Given the description of an element on the screen output the (x, y) to click on. 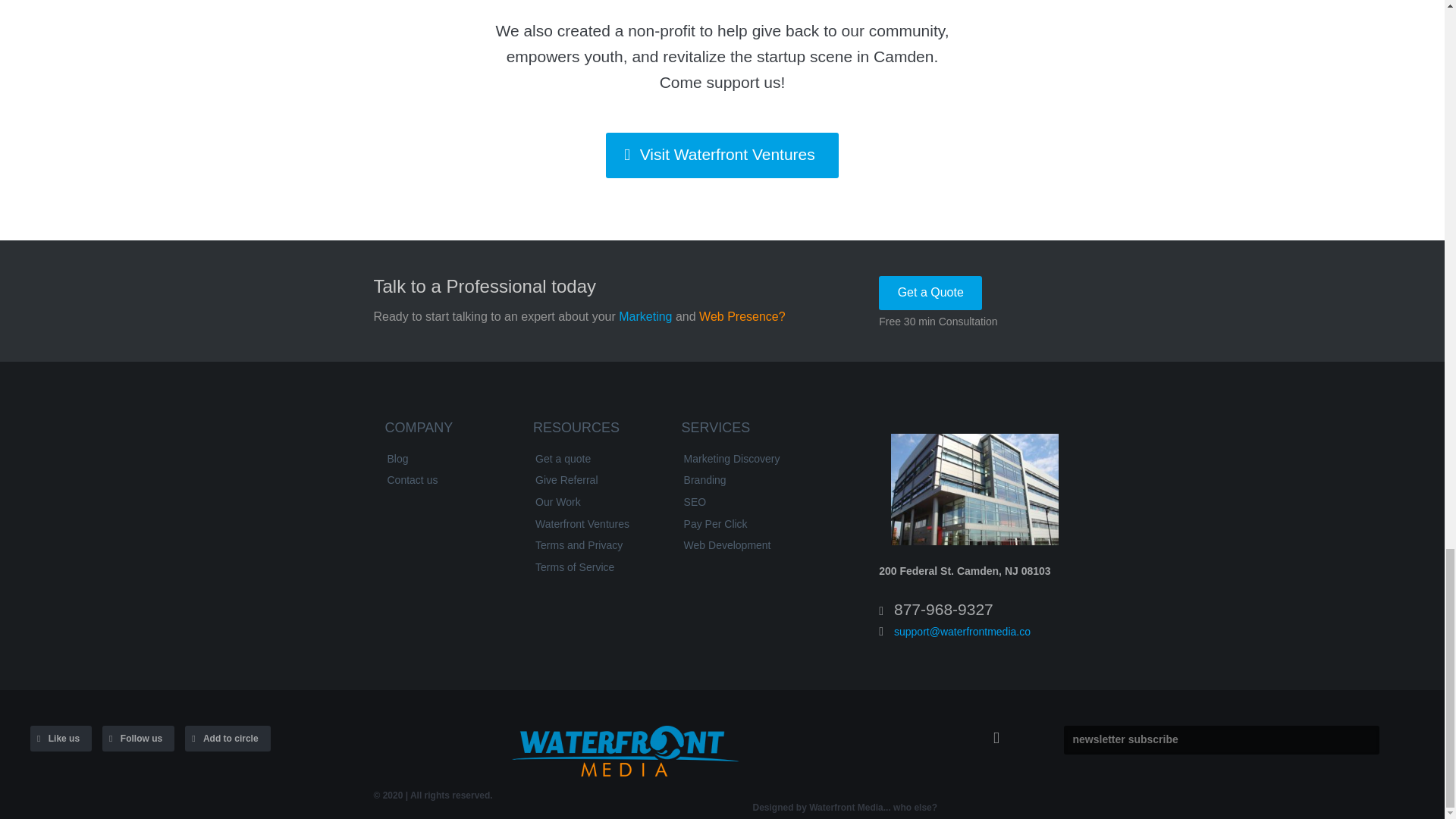
Visit Waterfront Ventures (722, 155)
RESOURCES (593, 431)
Get a Quote (930, 293)
Web Presence? (742, 316)
Marketing (644, 316)
Blog (442, 459)
Visit Waterfront Ventures (722, 155)
COMPANY (445, 431)
Contact us (442, 480)
Get a quote (591, 459)
